Given the description of an element on the screen output the (x, y) to click on. 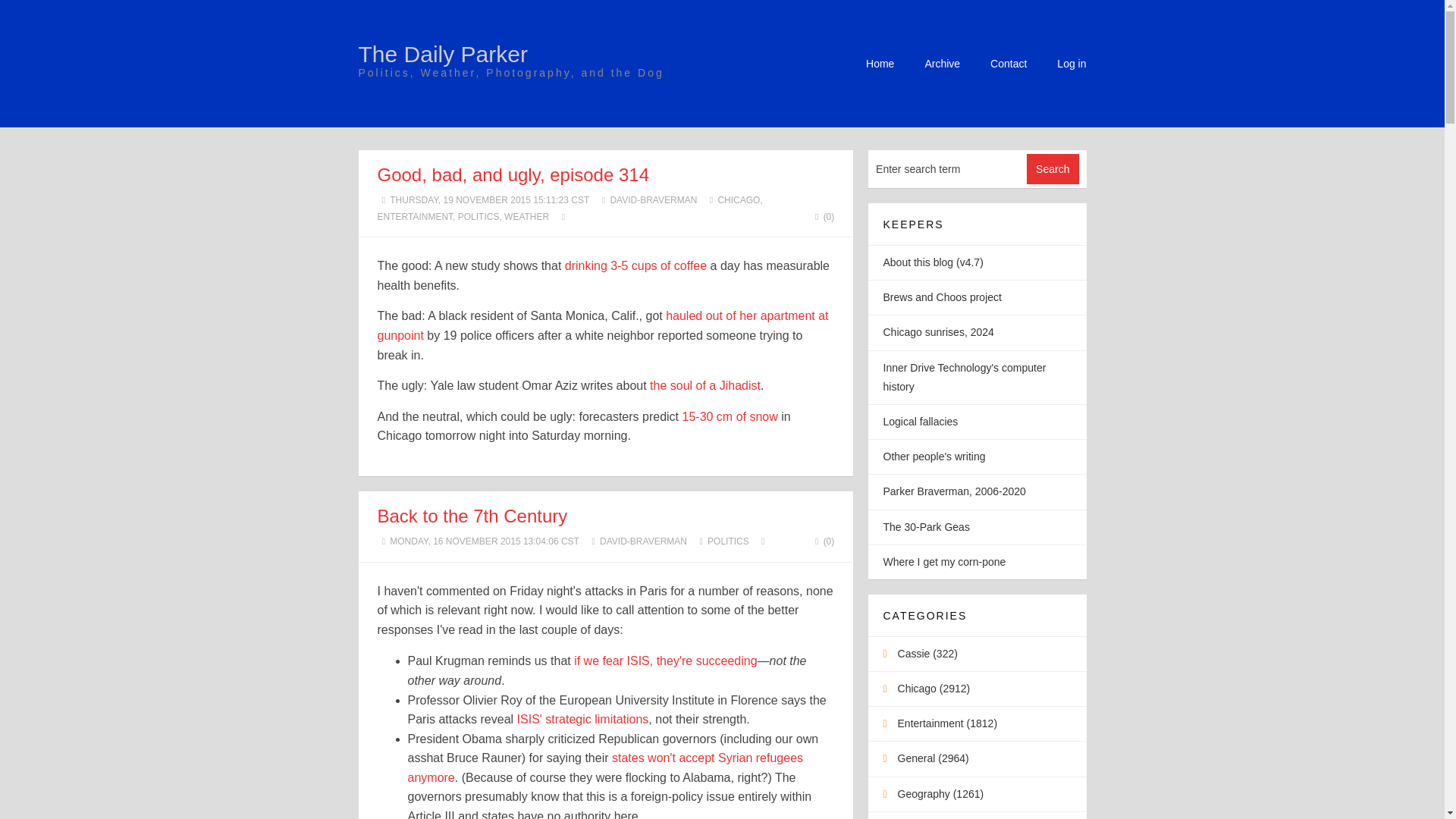
the soul of a Jihadist (704, 385)
ISIS' strategic limitations (582, 718)
Search (1053, 168)
CHICAGO (738, 199)
Archive (941, 63)
Enter search term (947, 168)
if we fear ISIS, they're succeeding (665, 660)
hauled out of her apartment at gunpoint (602, 325)
Log in (1071, 63)
Open a map of the location where this post was written (563, 216)
